Given the description of an element on the screen output the (x, y) to click on. 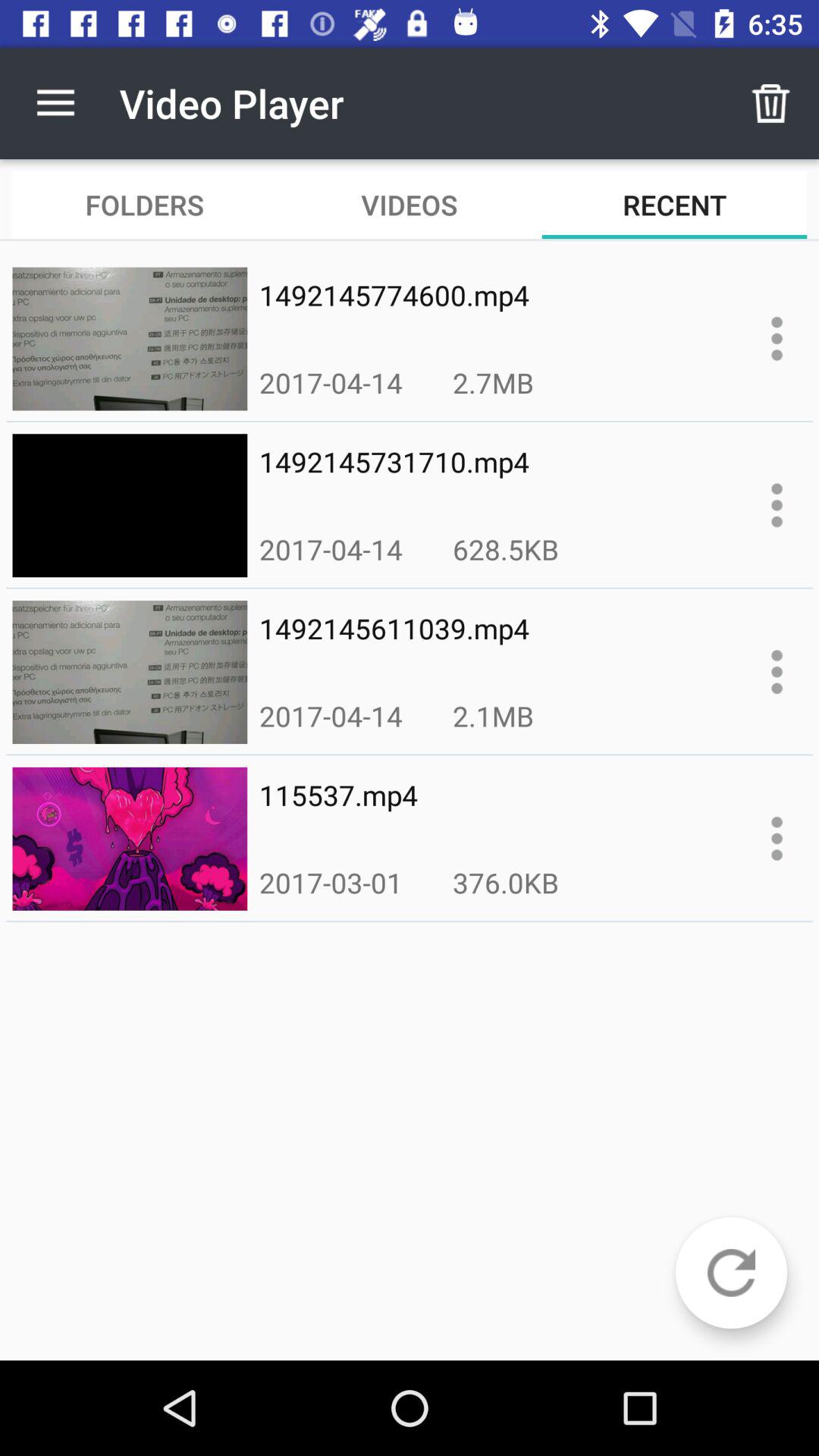
more info (776, 671)
